Given the description of an element on the screen output the (x, y) to click on. 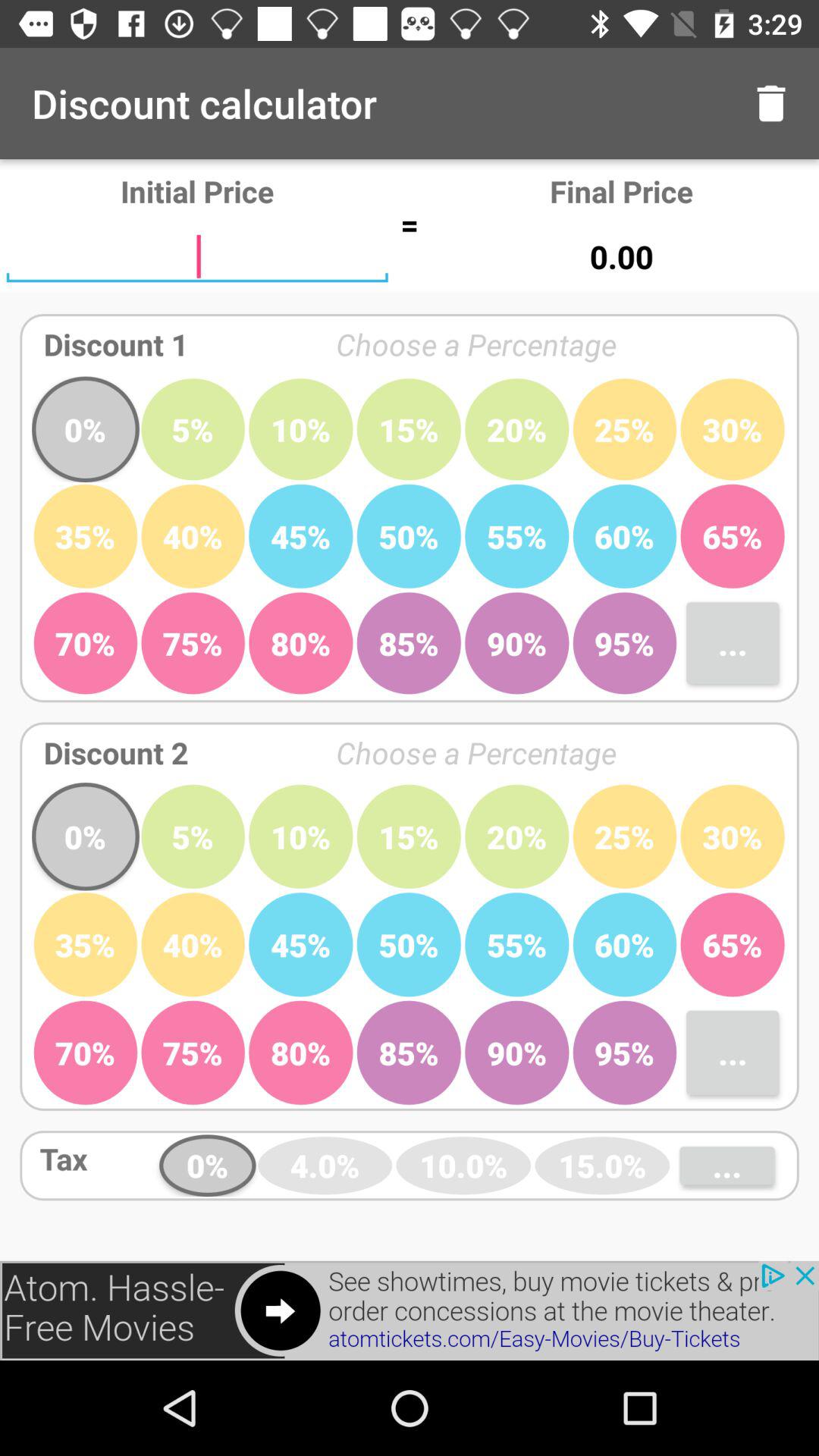
click advertisements (409, 1310)
